Given the description of an element on the screen output the (x, y) to click on. 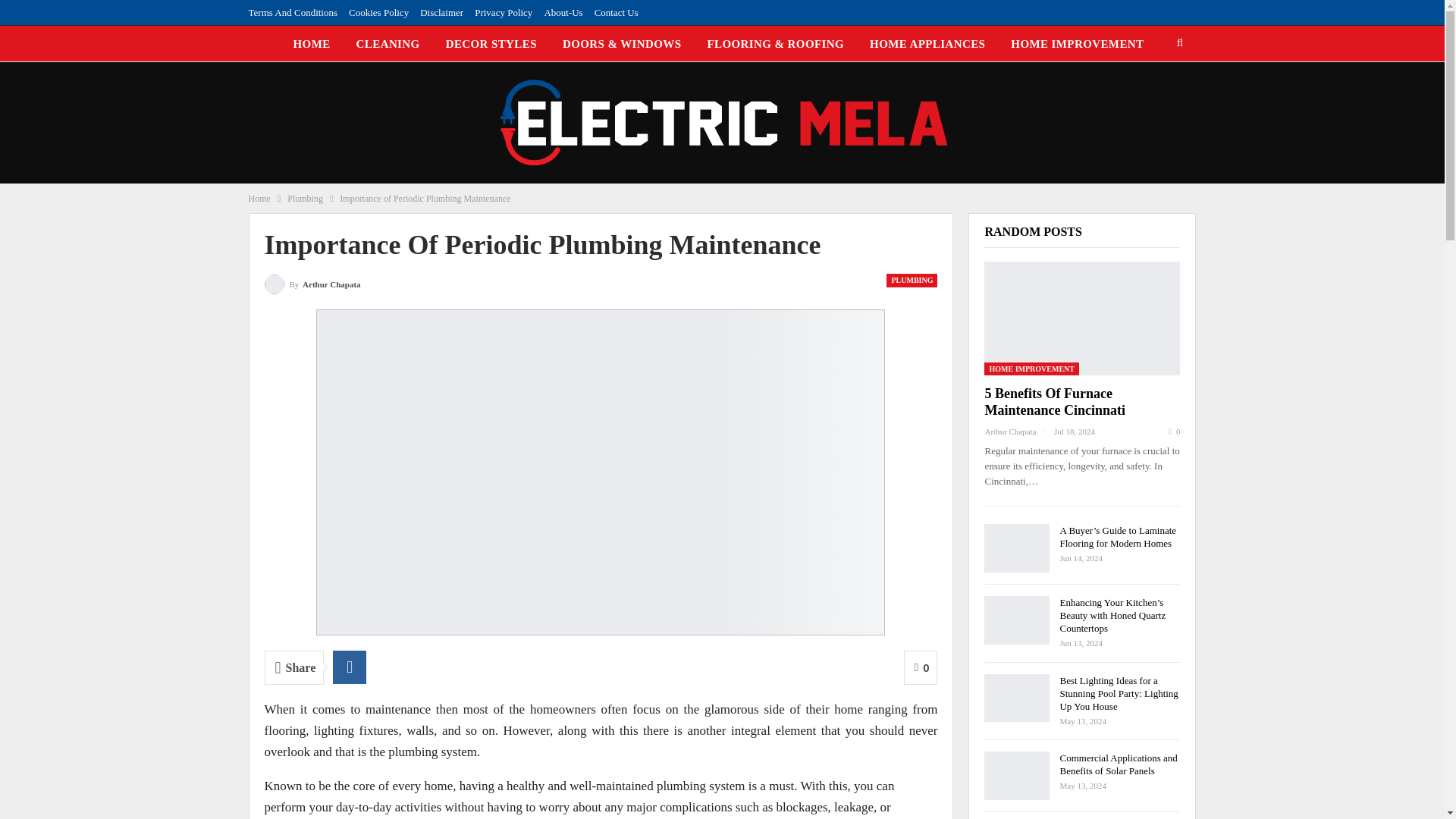
Browse Author Articles (311, 282)
DECOR STYLES (491, 43)
HOME IMPROVEMENT (1077, 43)
By Arthur Chapata (311, 282)
PLUMBING (911, 280)
0 (920, 667)
Terms And Conditions (292, 12)
Cookies Policy (379, 12)
Privacy Policy (503, 12)
Disclaimer (441, 12)
HOME (311, 43)
CLEANING (388, 43)
Home (259, 198)
HOME APPLIANCES (927, 43)
Contact Us (616, 12)
